Given the description of an element on the screen output the (x, y) to click on. 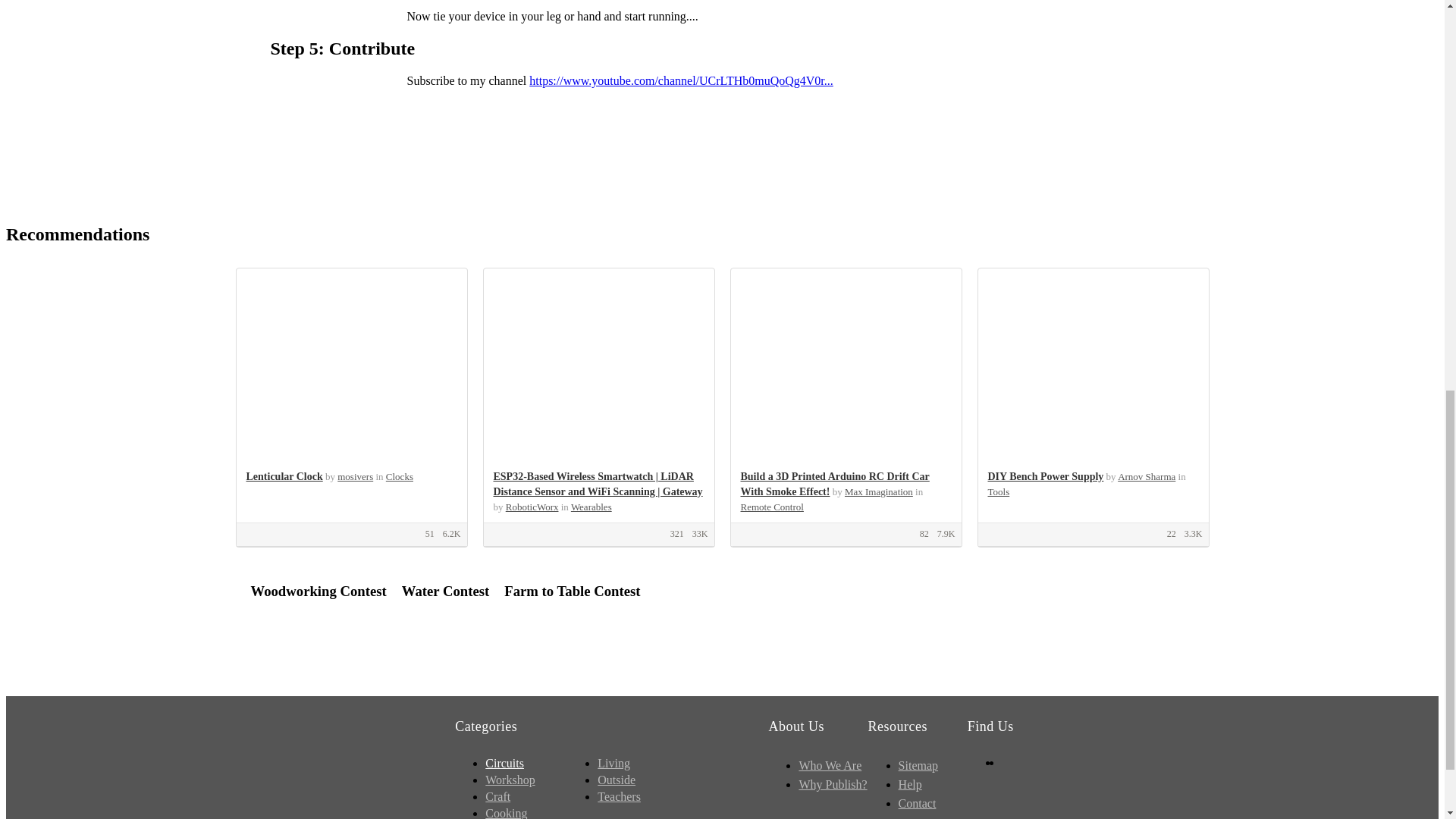
Clocks (399, 476)
RoboticWorx (532, 506)
Arnov Sharma (1146, 476)
Tools (998, 491)
Build a 3D Printed Arduino RC Drift Car With Smoke Effect! (833, 483)
Wearables (590, 506)
mosivers (354, 476)
Max Imagination (878, 491)
Lenticular Clock (283, 476)
DIY Bench Power Supply (1045, 476)
Remote Control (771, 506)
